Given the description of an element on the screen output the (x, y) to click on. 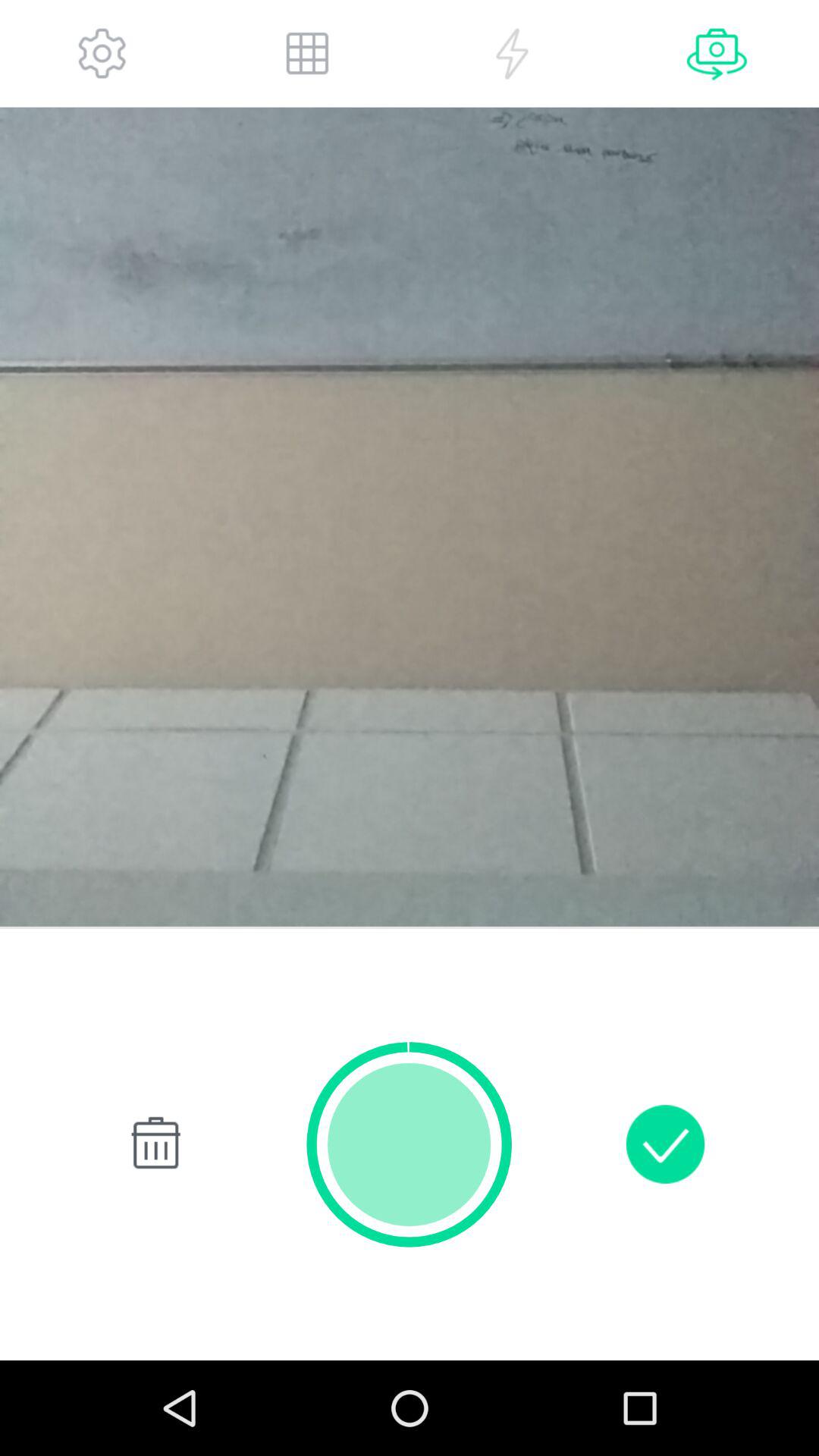
toggle flash (511, 53)
